Given the description of an element on the screen output the (x, y) to click on. 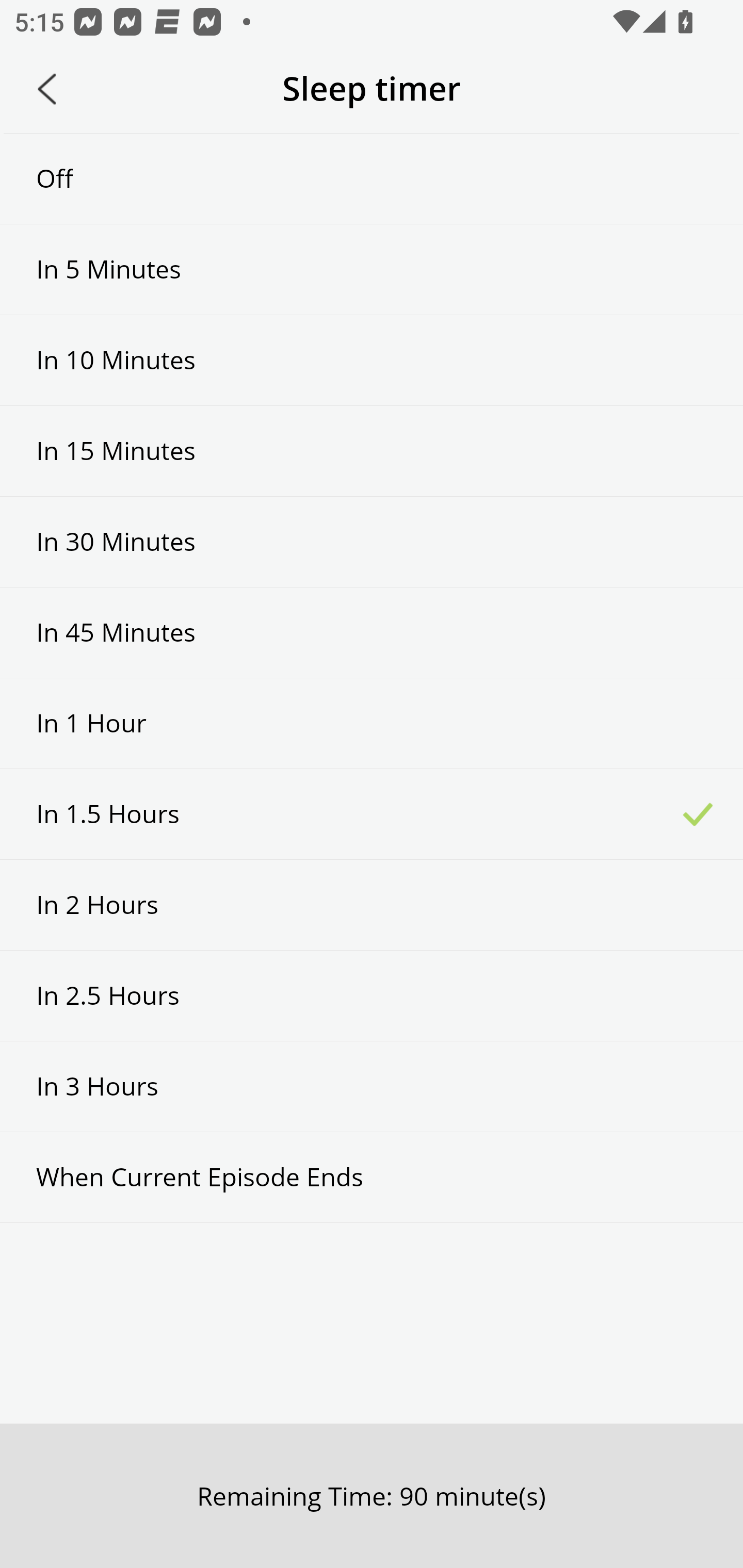
Back (46, 88)
Off (371, 178)
In 5 Minutes (371, 269)
In 10 Minutes (371, 360)
In 15 Minutes (371, 450)
In 30 Minutes (371, 541)
In 45 Minutes (371, 632)
In 1 Hour (371, 723)
In 1.5 Hours (371, 813)
In 2 Hours (371, 904)
In 2.5 Hours (371, 995)
In 3 Hours (371, 1086)
When Current Episode Ends (371, 1177)
